Given the description of an element on the screen output the (x, y) to click on. 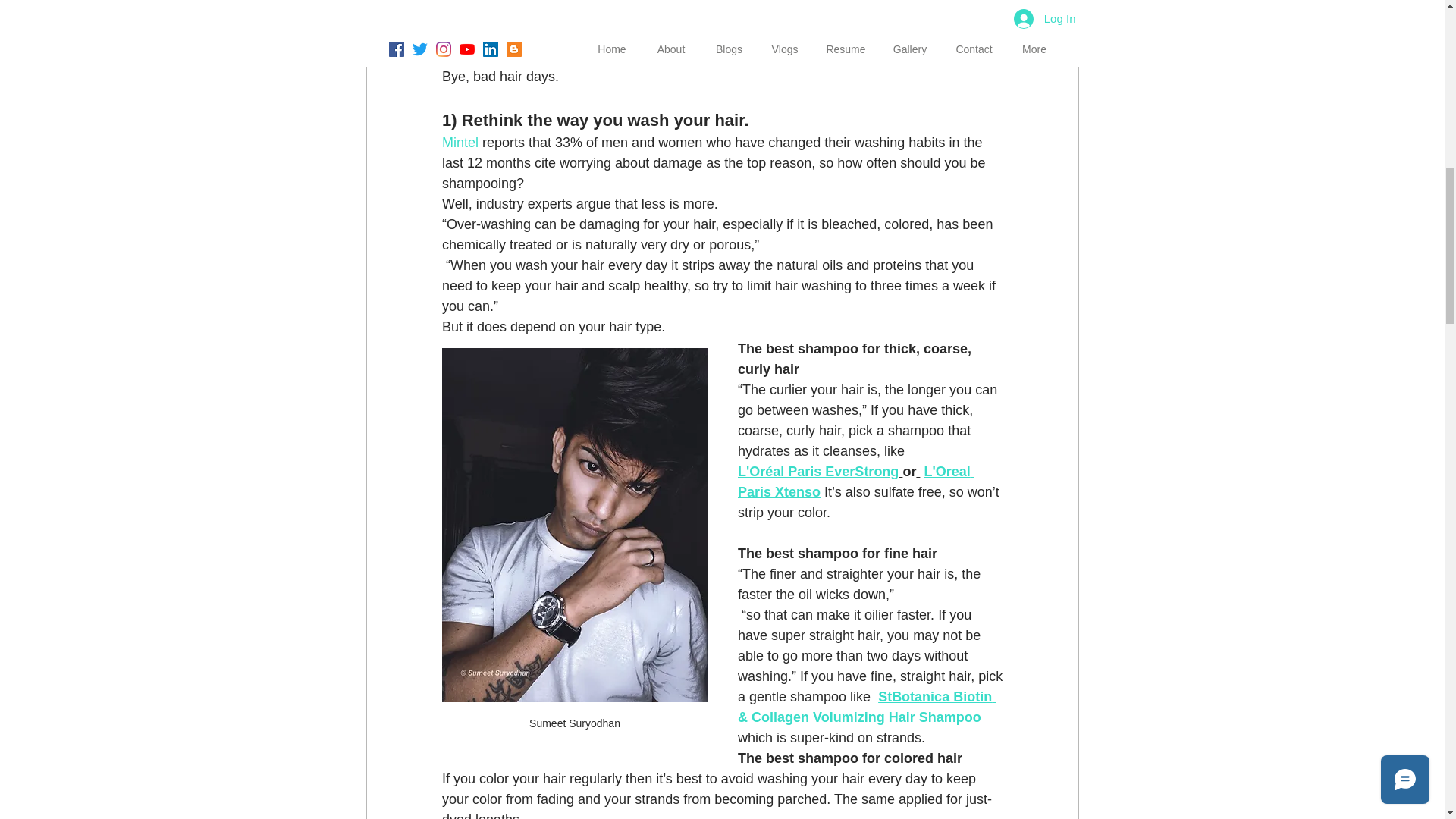
Mintel  (461, 142)
L'Oreal Paris Xtenso (855, 481)
